Given the description of an element on the screen output the (x, y) to click on. 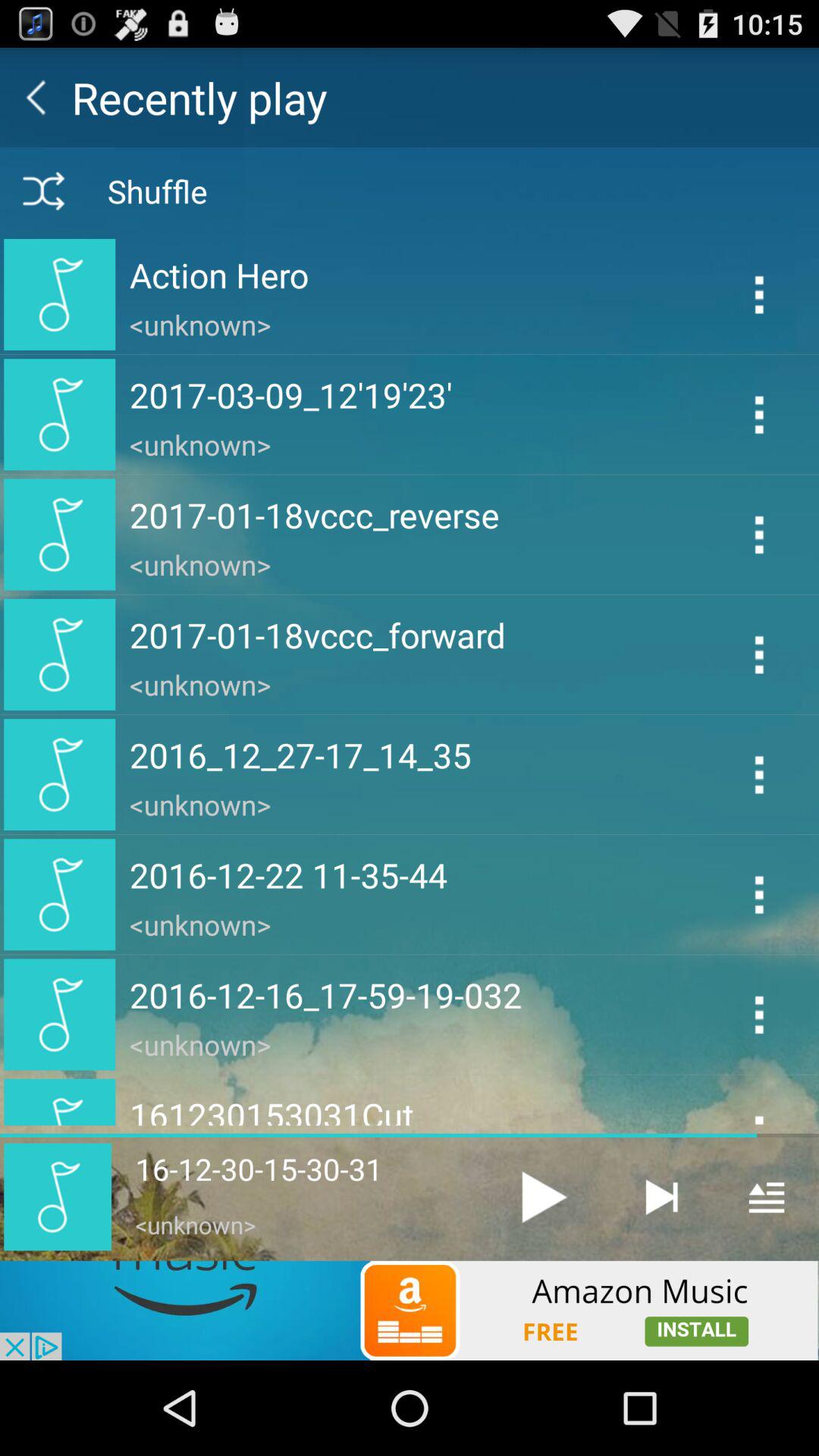
go to auto player (660, 1197)
